Given the description of an element on the screen output the (x, y) to click on. 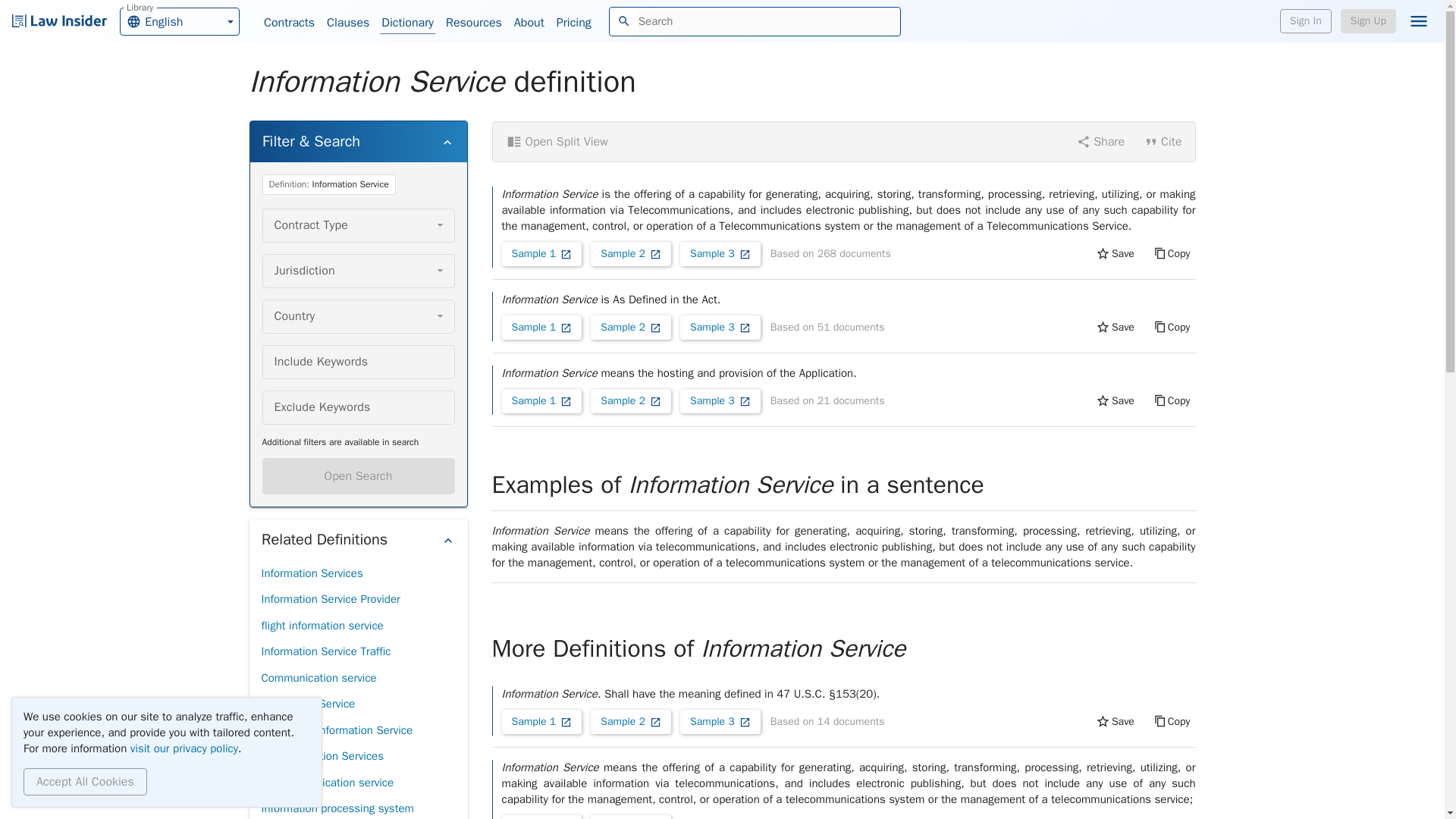
Dictionary (407, 23)
flight information service (321, 625)
Information Service Traffic (325, 651)
Pricing (573, 23)
Sign In (1305, 21)
Communication service (317, 678)
Information processing system (336, 807)
Accept All Cookies (85, 781)
Resources (473, 23)
Clauses (179, 20)
Open Search (347, 23)
Information Services (358, 475)
visit our privacy policy (311, 573)
telecommunication service (184, 748)
